Given the description of an element on the screen output the (x, y) to click on. 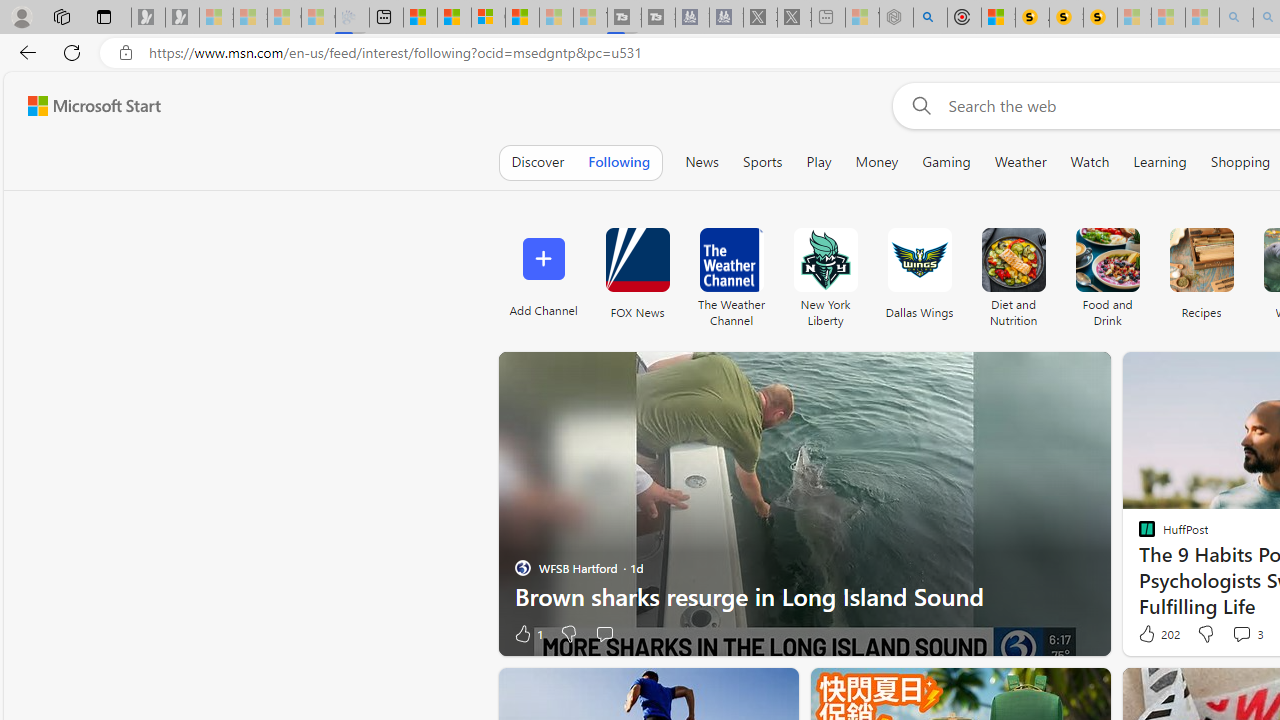
FOX News (637, 272)
Dallas Wings (919, 272)
New York Liberty (824, 272)
View comments 3 Comment (1247, 633)
